Given the description of an element on the screen output the (x, y) to click on. 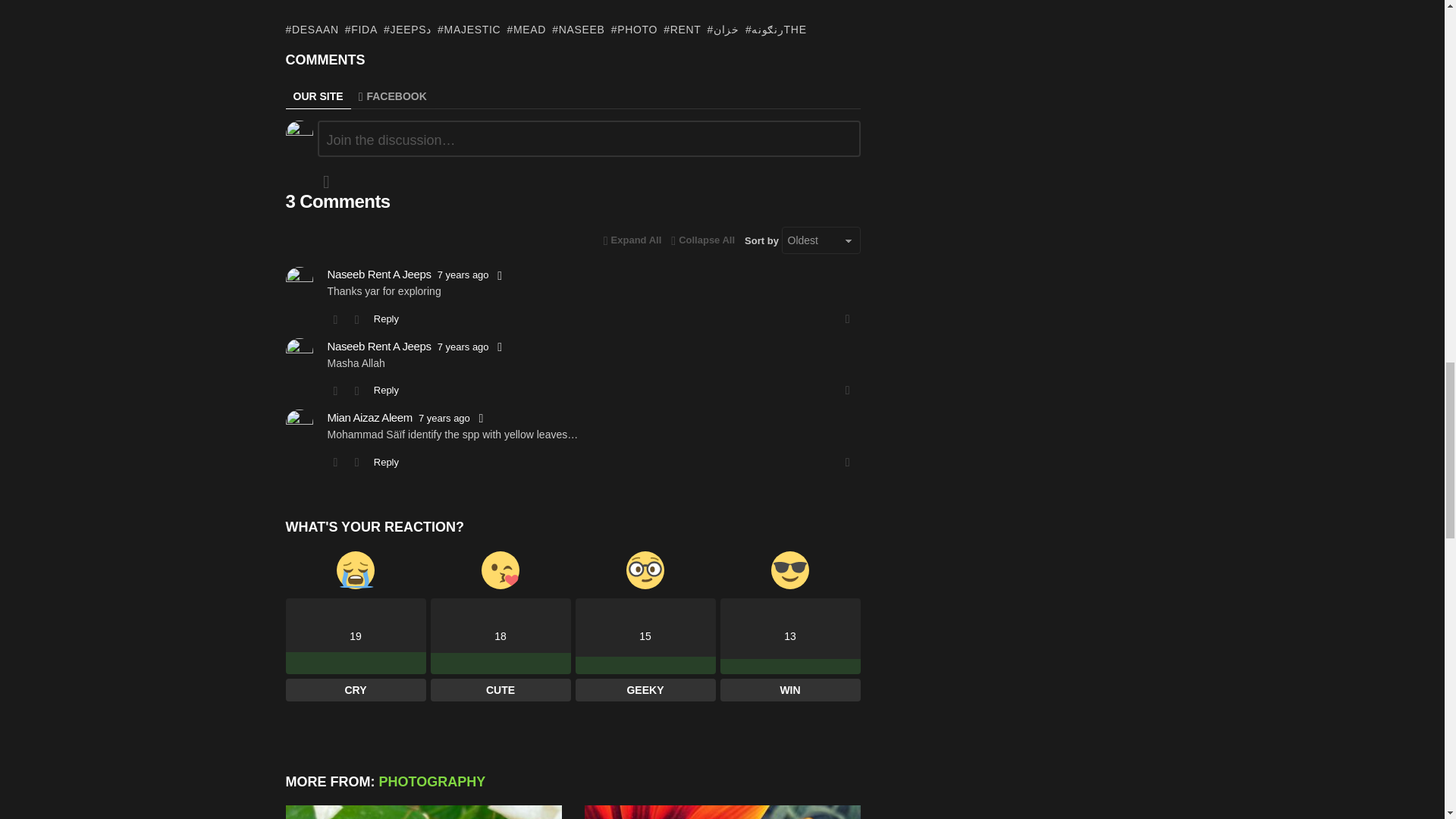
Collapse All Replies (633, 240)
Reply with GIF (325, 181)
